Given the description of an element on the screen output the (x, y) to click on. 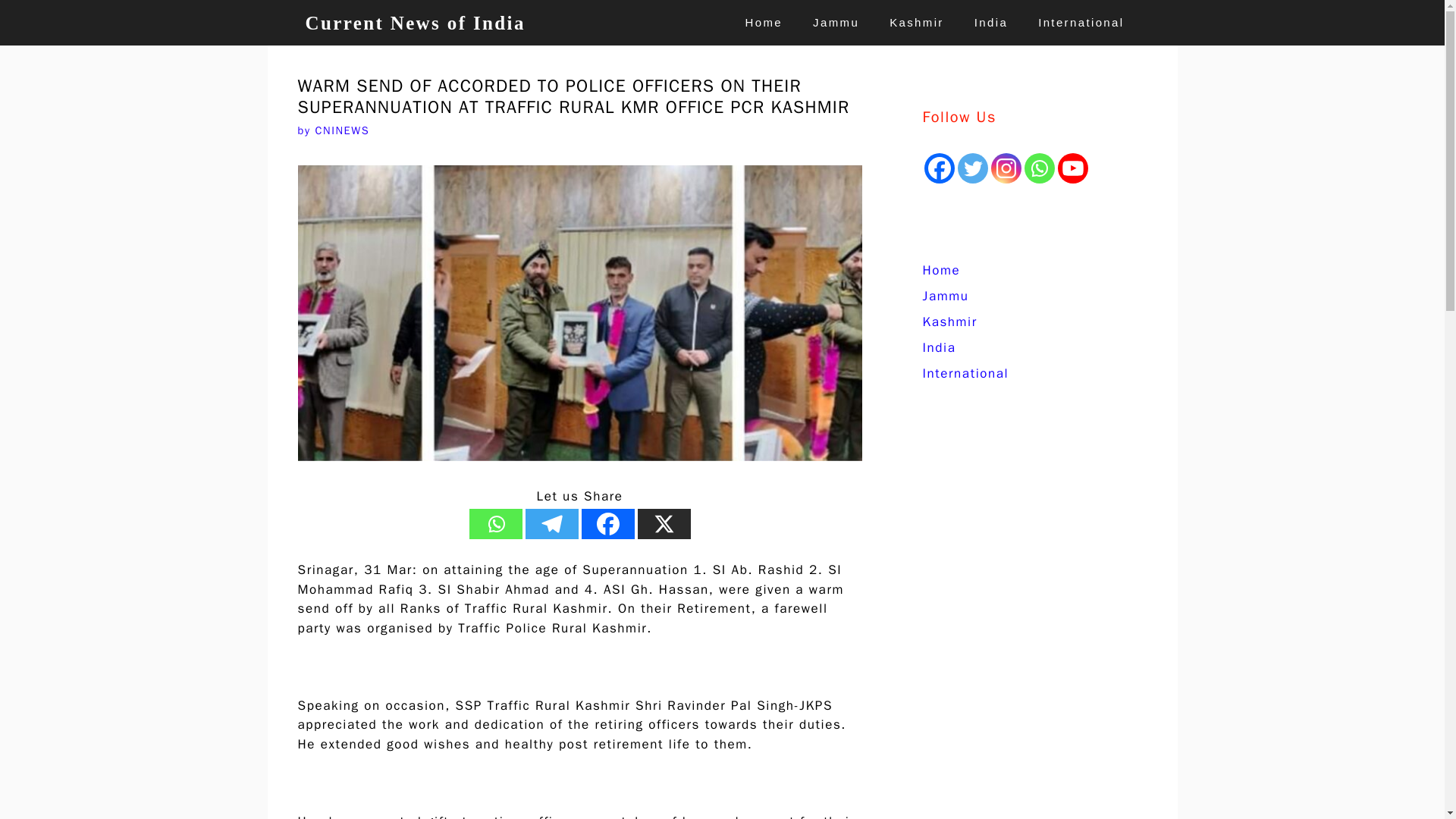
Jammu (836, 22)
View all posts by CNINEWS (341, 130)
Home (763, 22)
Telegram (551, 523)
Kashmir (948, 321)
Jammu (944, 295)
India (938, 347)
CNINEWS (341, 130)
X (663, 523)
Home (940, 270)
India (991, 22)
Kashmir (917, 22)
Whatsapp (494, 523)
International (1080, 22)
Facebook (606, 523)
